Given the description of an element on the screen output the (x, y) to click on. 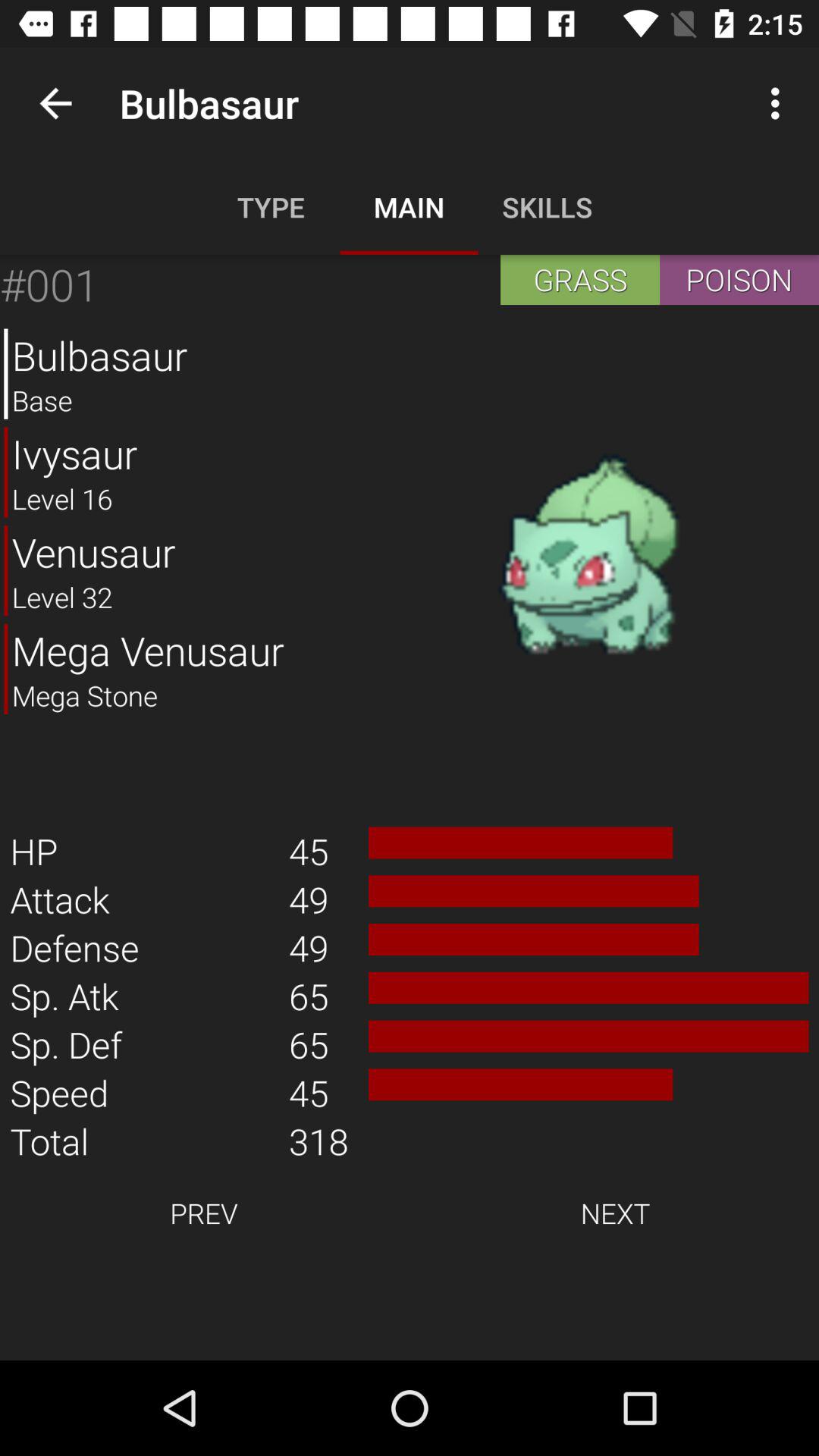
turn on the icon next to the bulbasaur icon (55, 103)
